Given the description of an element on the screen output the (x, y) to click on. 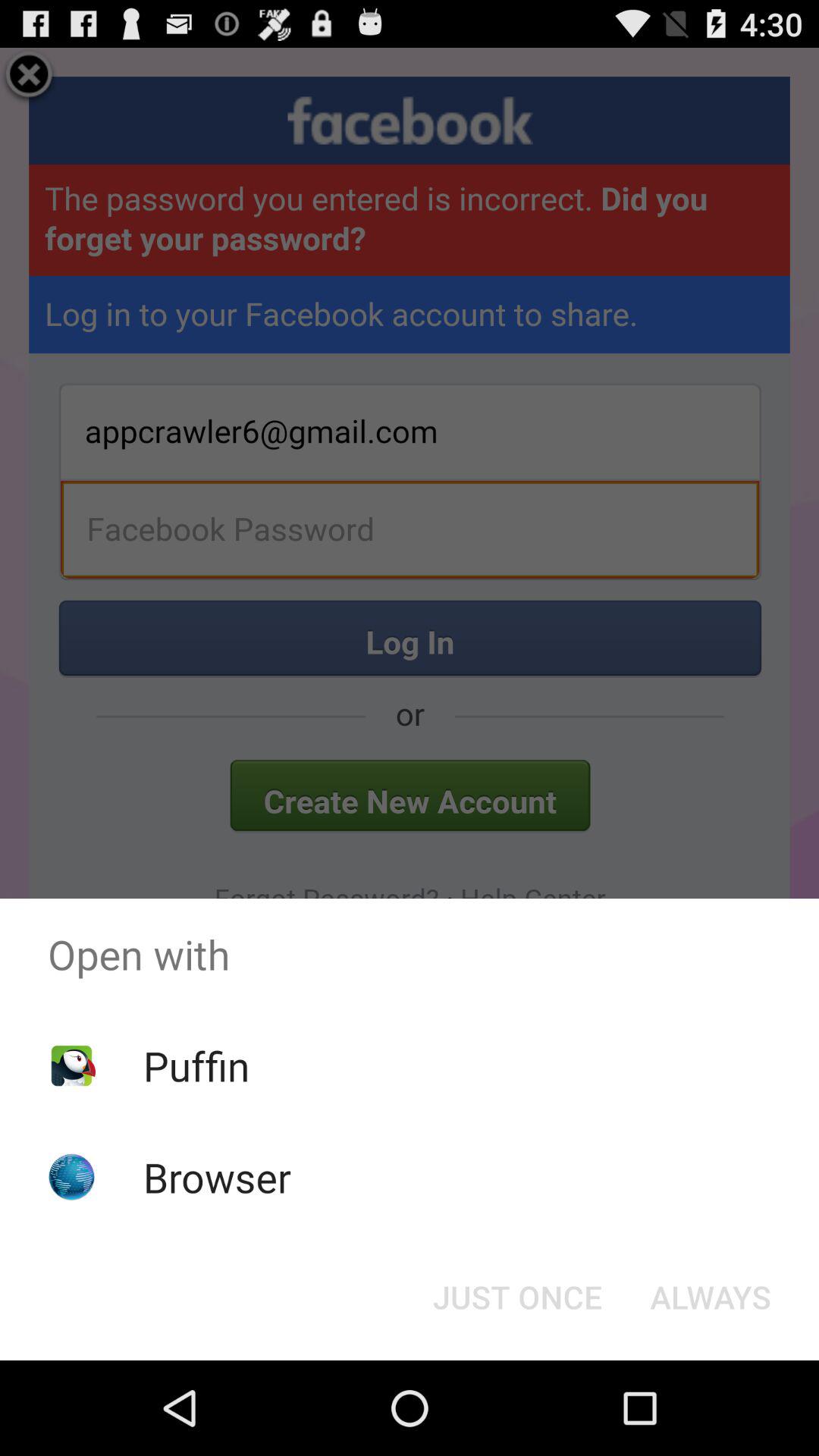
launch button to the left of the always (517, 1296)
